Given the description of an element on the screen output the (x, y) to click on. 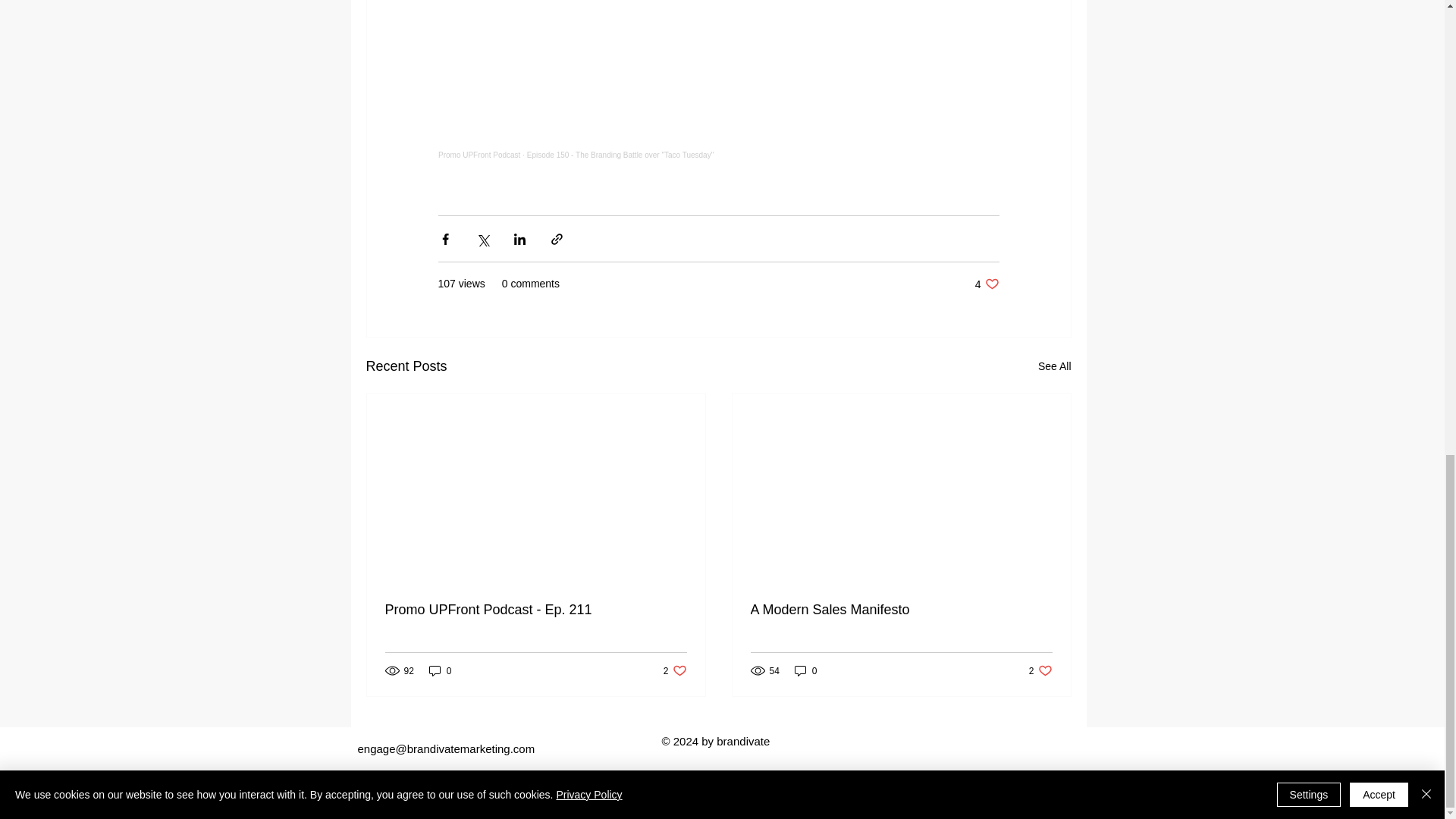
remote content (1040, 670)
0 (675, 670)
0 (986, 283)
See All (718, 90)
Promo UPFront Podcast - Ep. 211 (440, 670)
A Modern Sales Manifesto (805, 670)
